Given the description of an element on the screen output the (x, y) to click on. 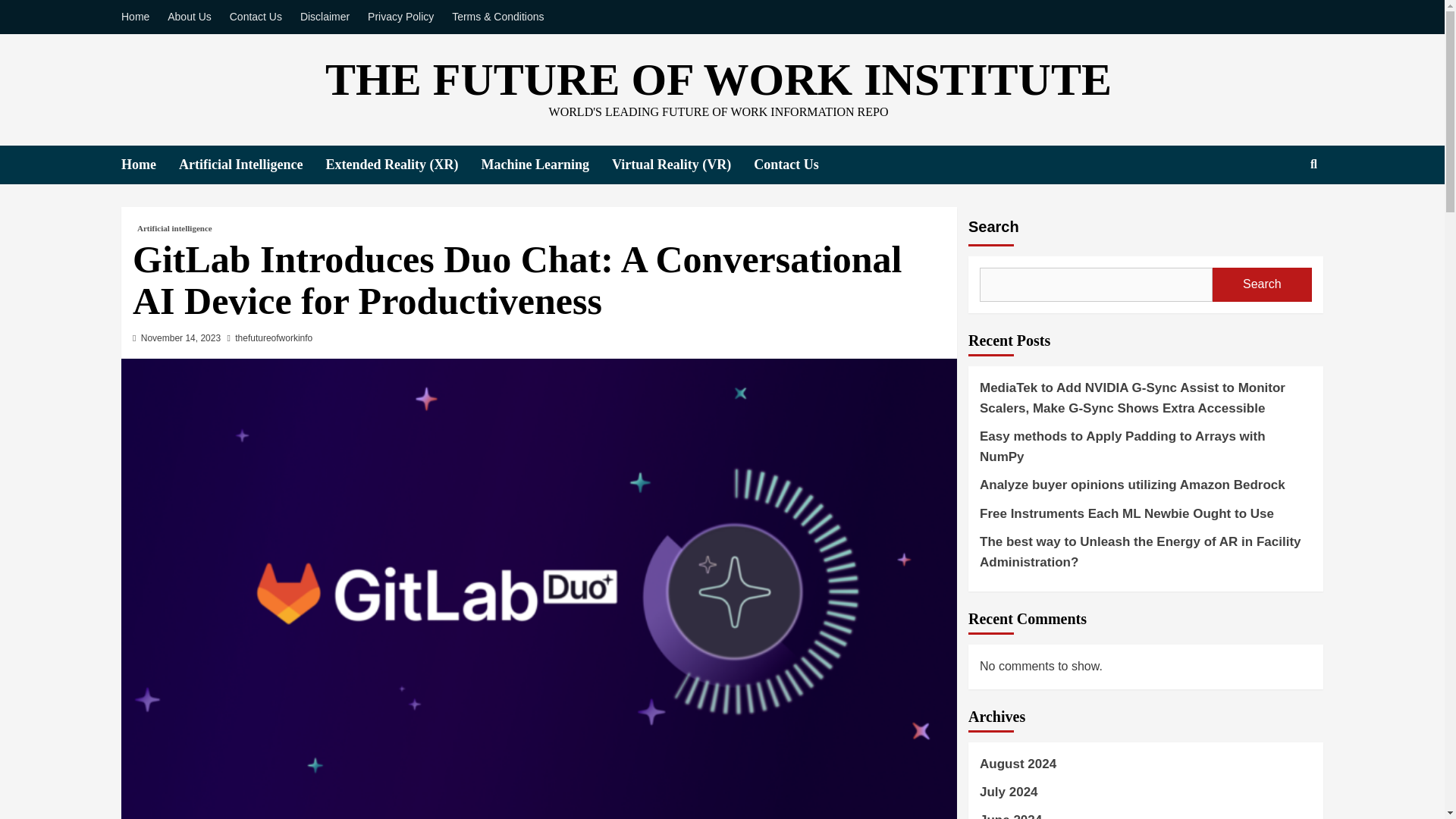
Disclaimer (324, 17)
Artificial intelligence (174, 228)
Contact Us (797, 164)
Home (138, 17)
thefutureofworkinfo (273, 337)
About Us (189, 17)
Machine Learning (545, 164)
Search (1278, 212)
Privacy Policy (400, 17)
November 14, 2023 (181, 337)
